Given the description of an element on the screen output the (x, y) to click on. 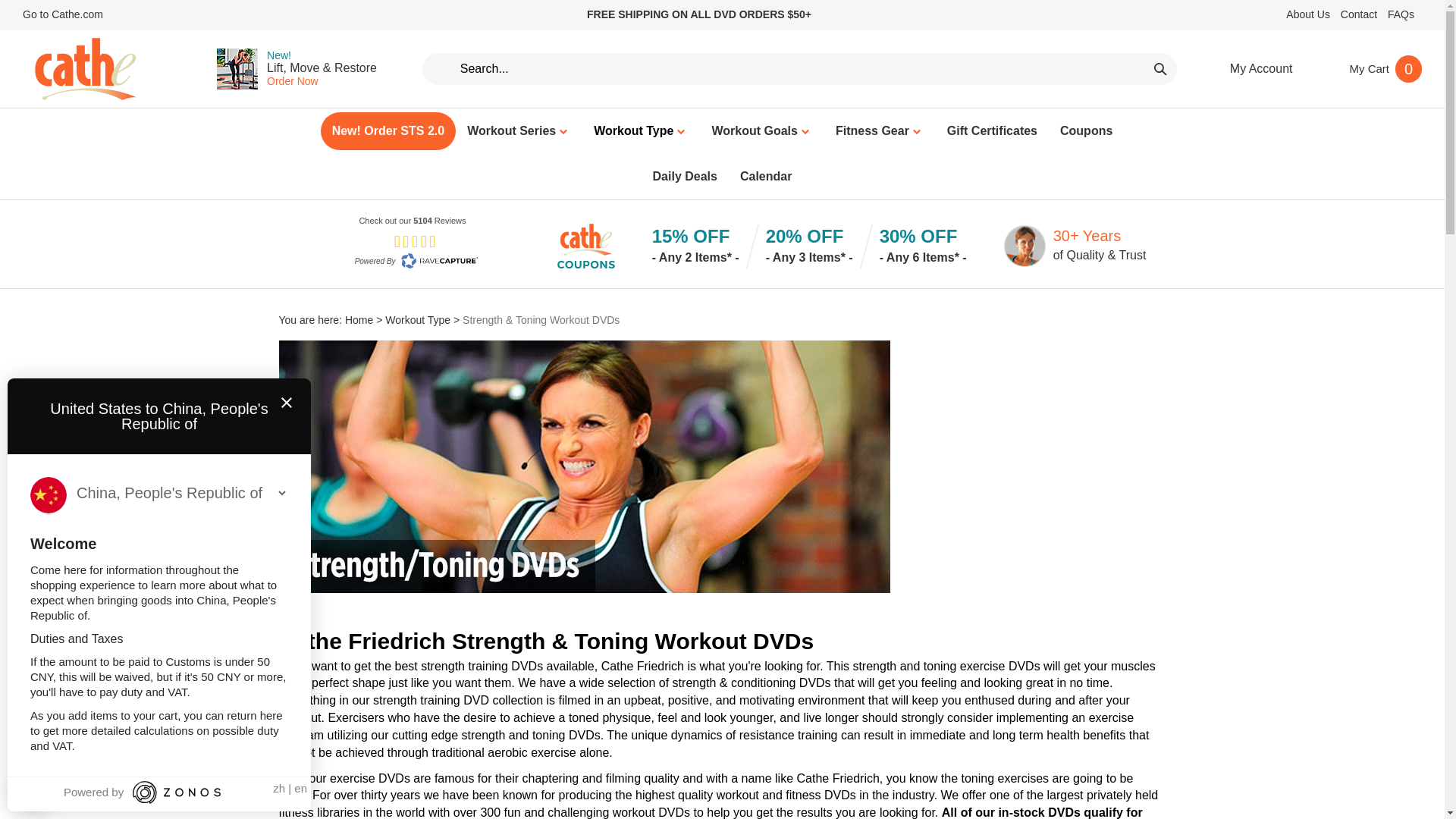
shop.cathe.com (85, 68)
